Given the description of an element on the screen output the (x, y) to click on. 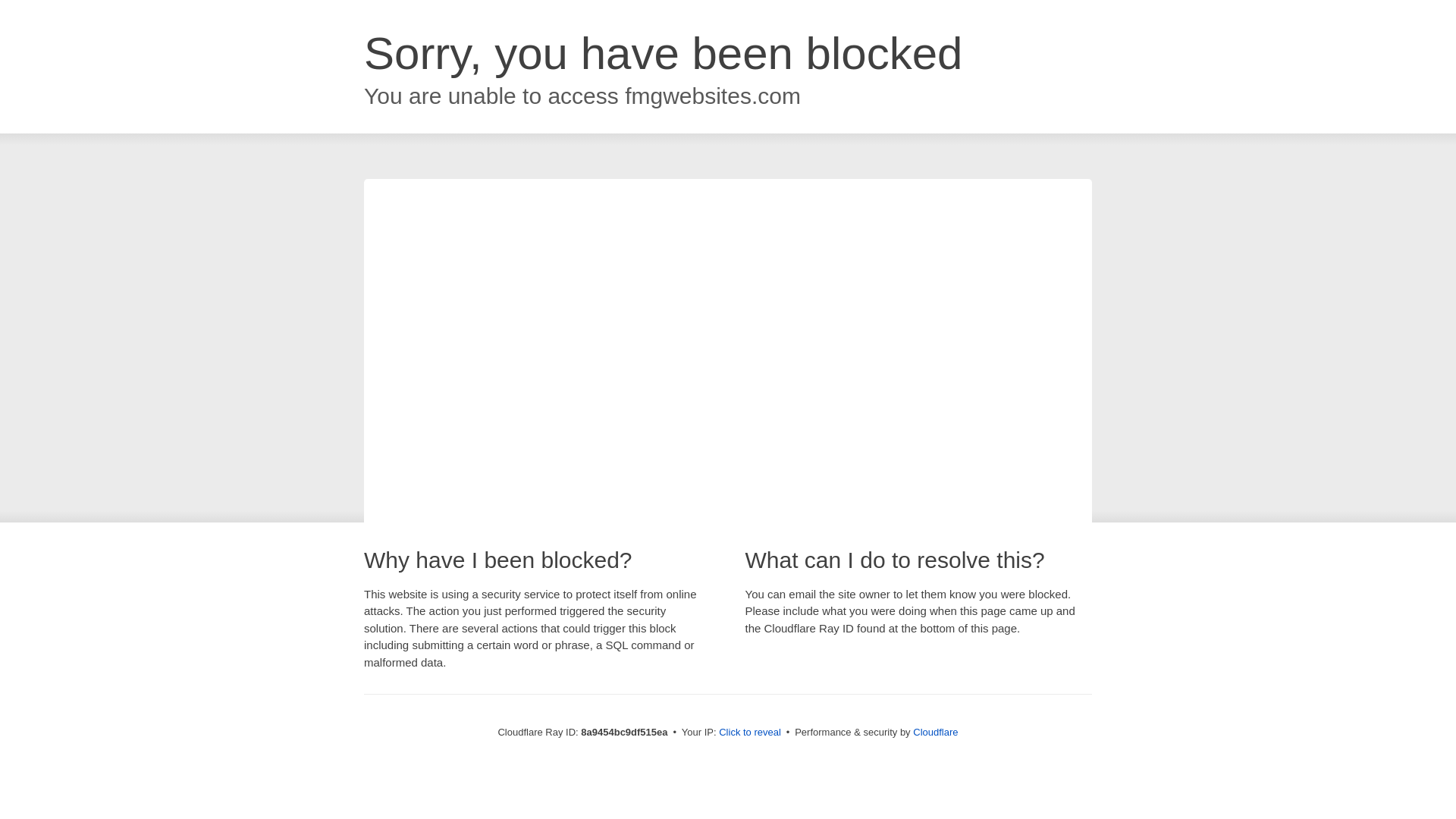
Click to reveal (749, 732)
Cloudflare (935, 731)
